Given the description of an element on the screen output the (x, y) to click on. 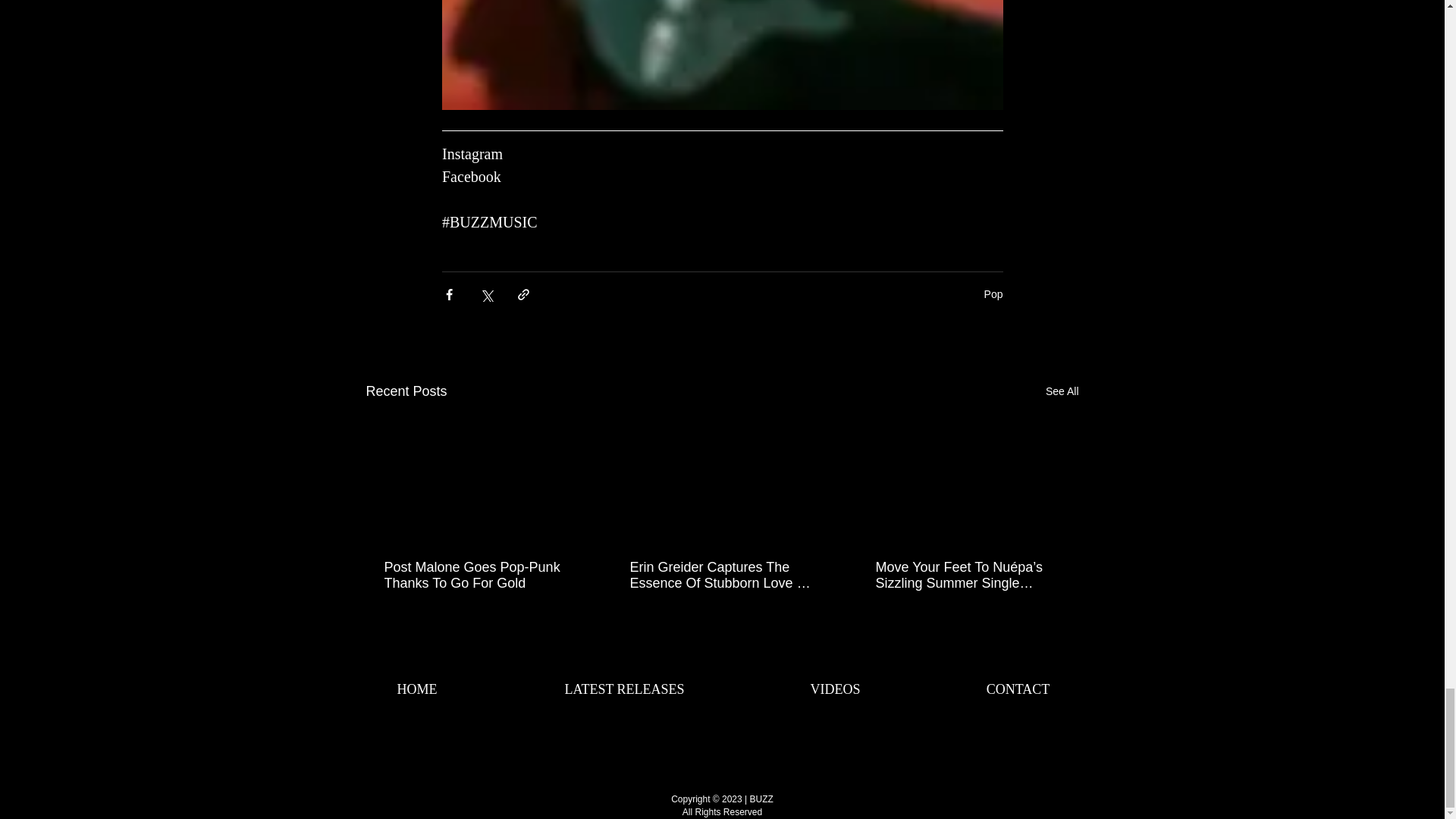
Facebook (470, 176)
See All (1061, 391)
Instagram (471, 153)
Pop (993, 294)
Post Malone Goes Pop-Punk Thanks To Go For Gold (475, 575)
HOME (415, 689)
